Given the description of an element on the screen output the (x, y) to click on. 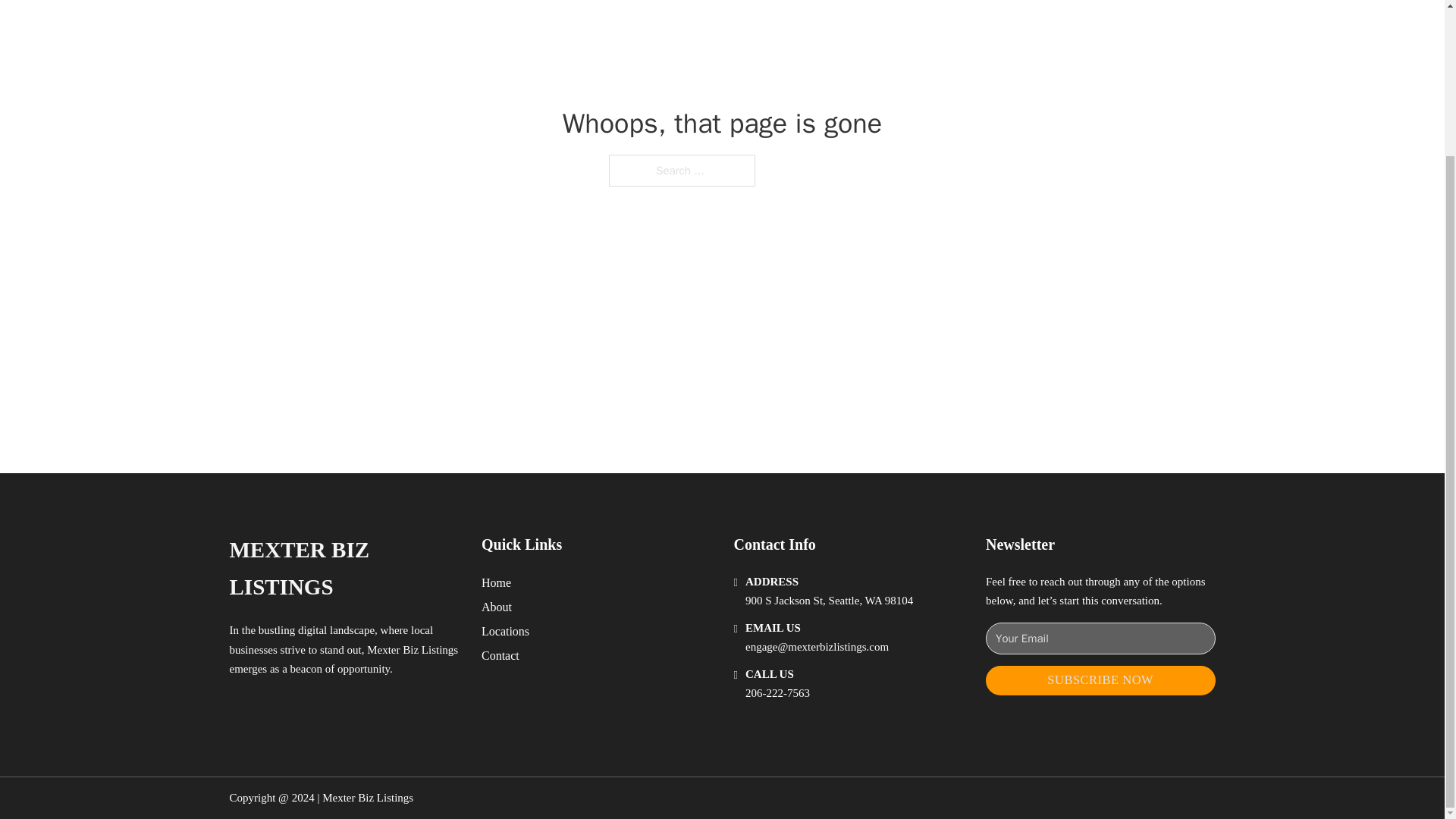
Home (496, 582)
About (496, 607)
Contact (500, 655)
206-222-7563 (777, 693)
MEXTER BIZ LISTINGS (343, 568)
SUBSCRIBE NOW (1100, 680)
Locations (505, 630)
